Given the description of an element on the screen output the (x, y) to click on. 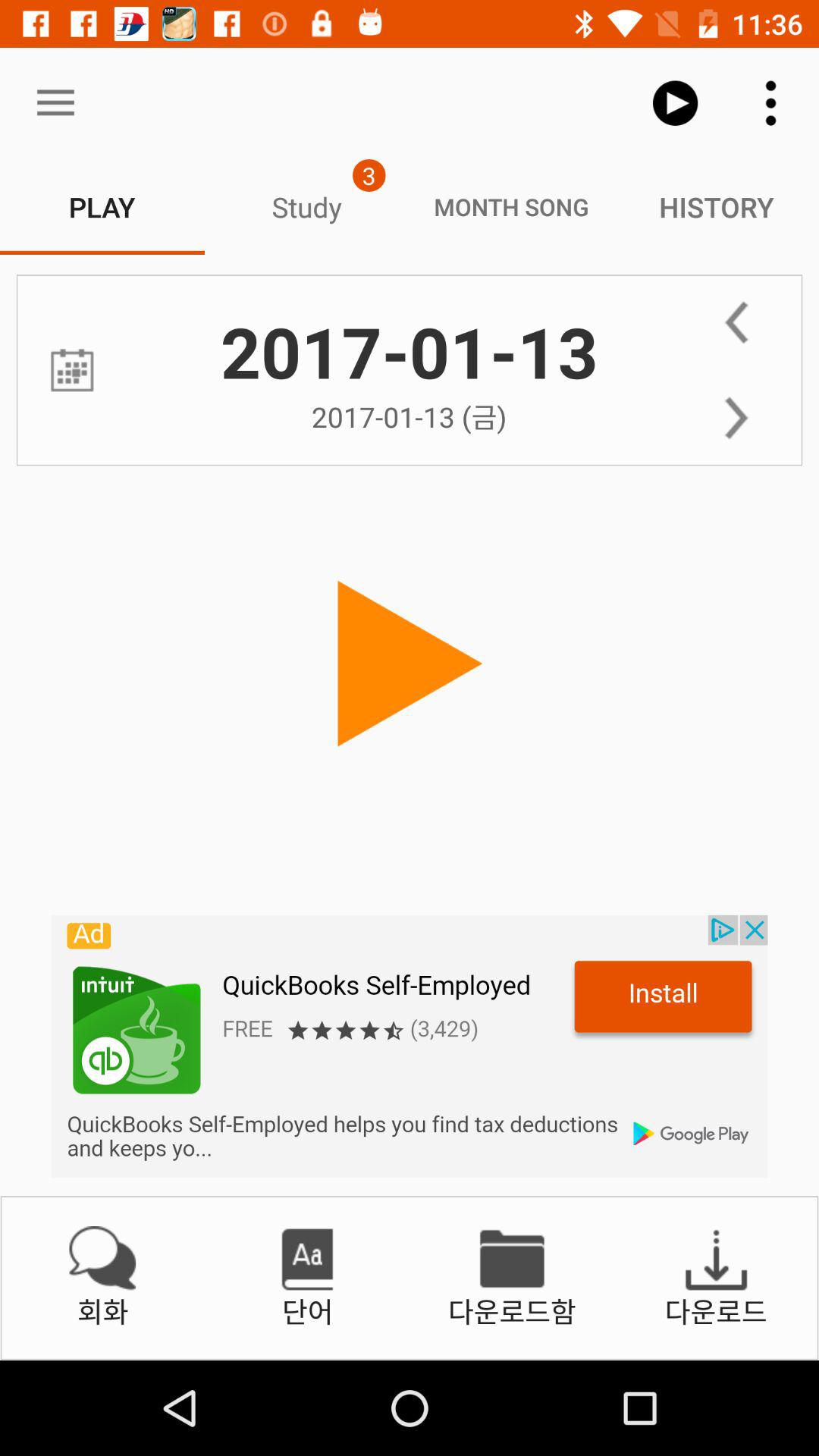
go next (736, 417)
